Given the description of an element on the screen output the (x, y) to click on. 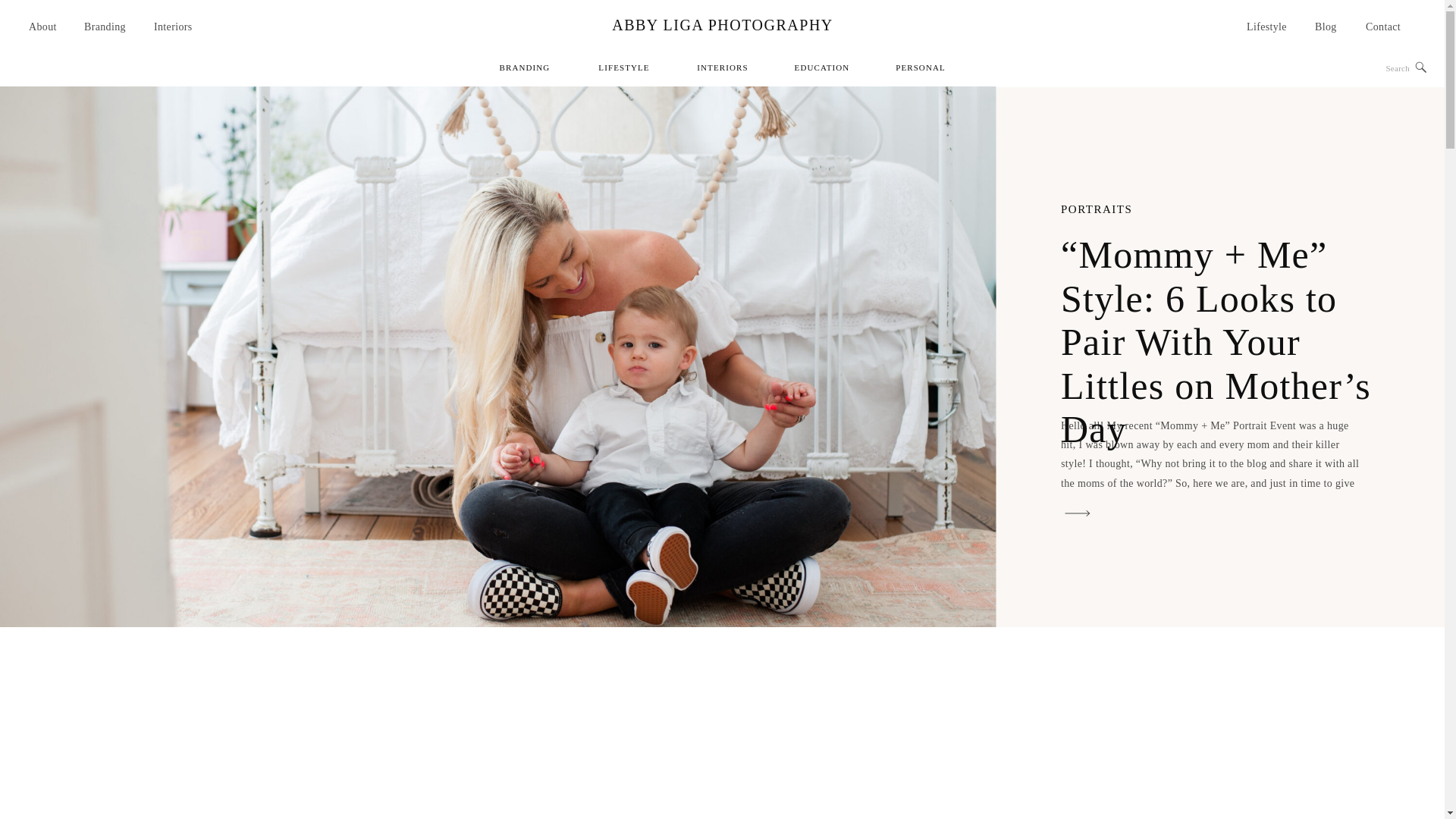
Lifestyle (1267, 26)
PORTRAITS (1096, 209)
EDUCATION (821, 70)
LIFESTYLE (624, 70)
Branding (108, 26)
Contact (1387, 26)
BRANDING (523, 70)
About (45, 26)
Interiors (176, 26)
PERSONAL (919, 70)
INTERIORS (722, 70)
ABBY LIGA PHOTOGRAPHY (722, 24)
Blog (1326, 26)
